Given the description of an element on the screen output the (x, y) to click on. 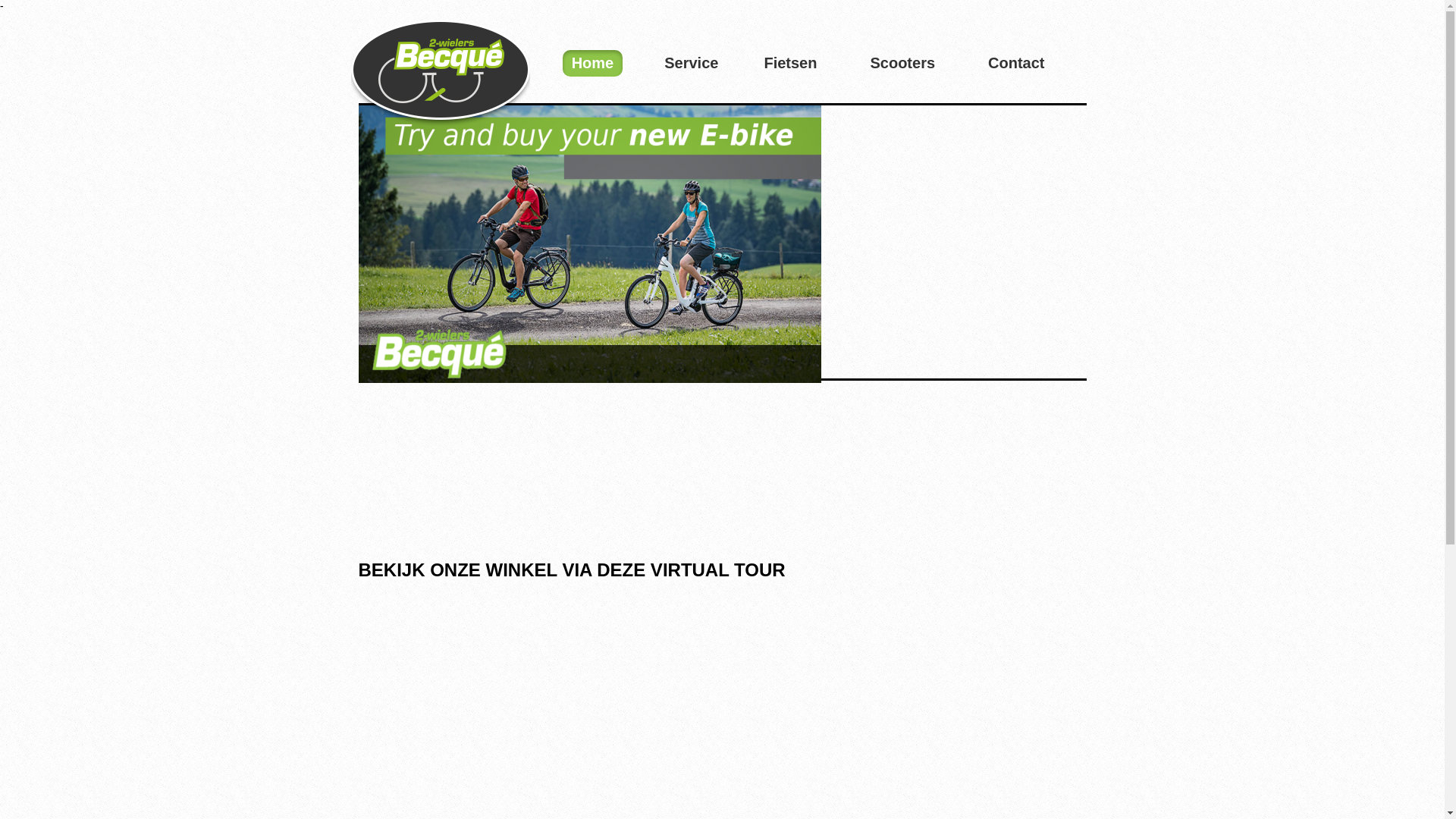
Service Element type: text (690, 63)
Home Element type: hover (439, 73)
Home Element type: text (592, 63)
Scooters Element type: text (906, 63)
Contact Element type: text (1016, 63)
Fietsen Element type: text (793, 63)
